Given the description of an element on the screen output the (x, y) to click on. 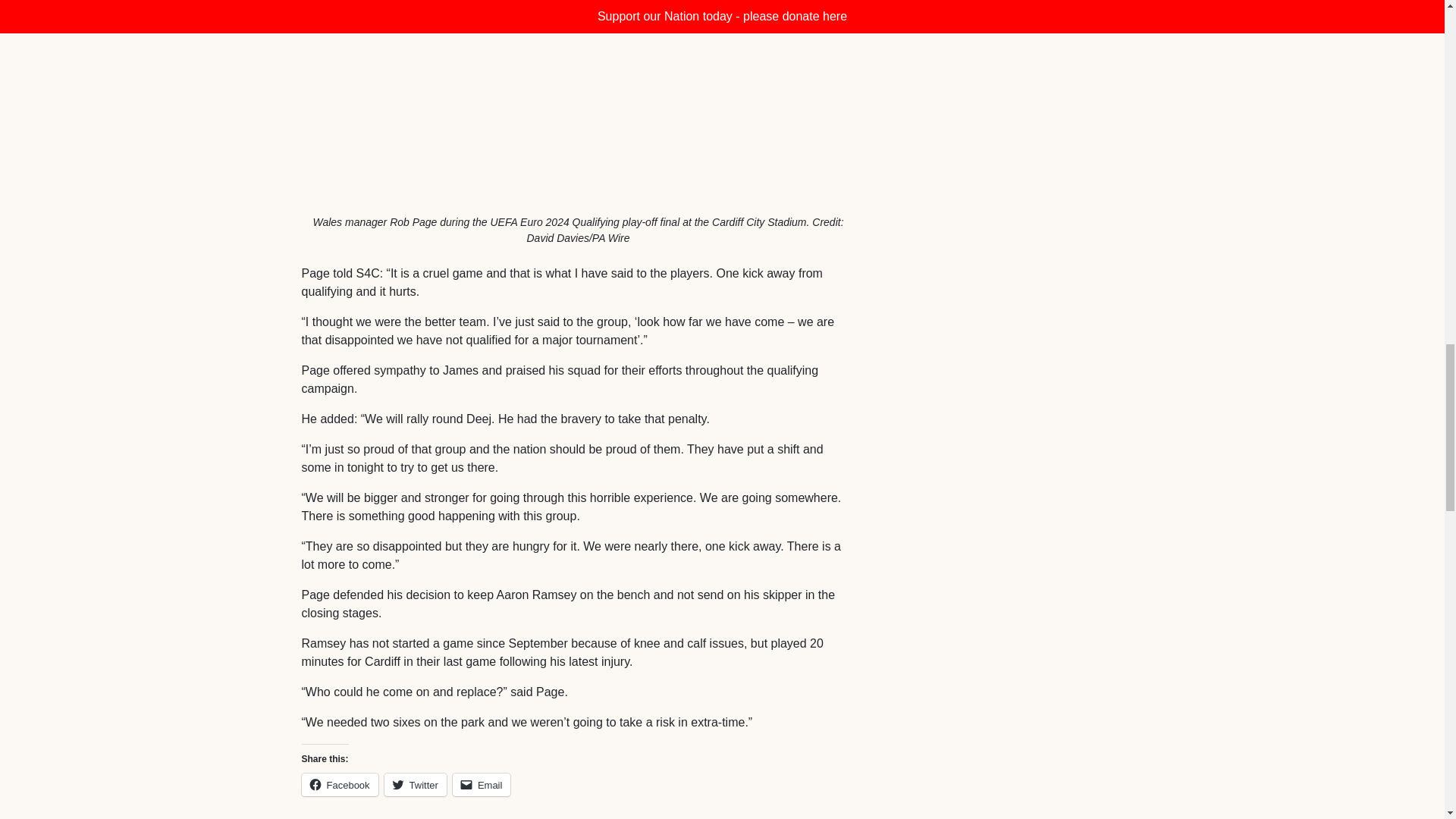
Email (481, 784)
Click to email a link to a friend (481, 784)
Click to share on Facebook (339, 784)
Facebook (339, 784)
Twitter (415, 784)
Click to share on Twitter (415, 784)
